Given the description of an element on the screen output the (x, y) to click on. 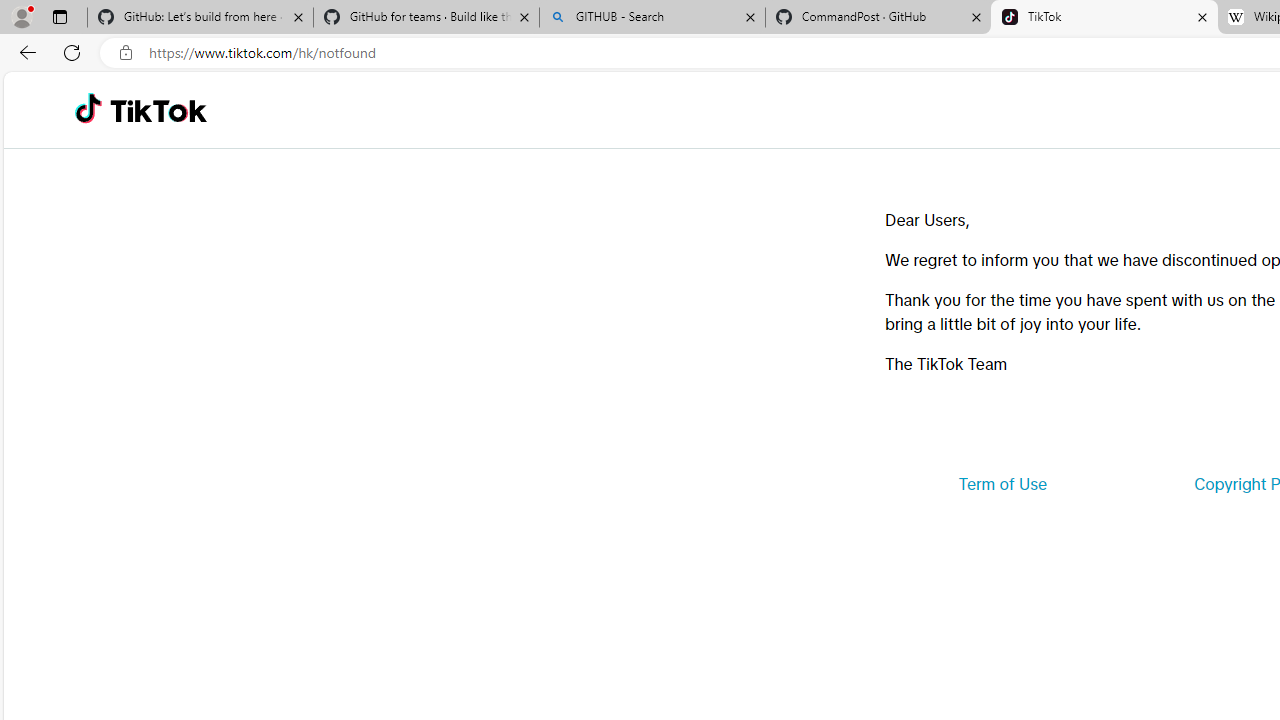
Term of Use (1002, 484)
GITHUB - Search (652, 17)
